Given the description of an element on the screen output the (x, y) to click on. 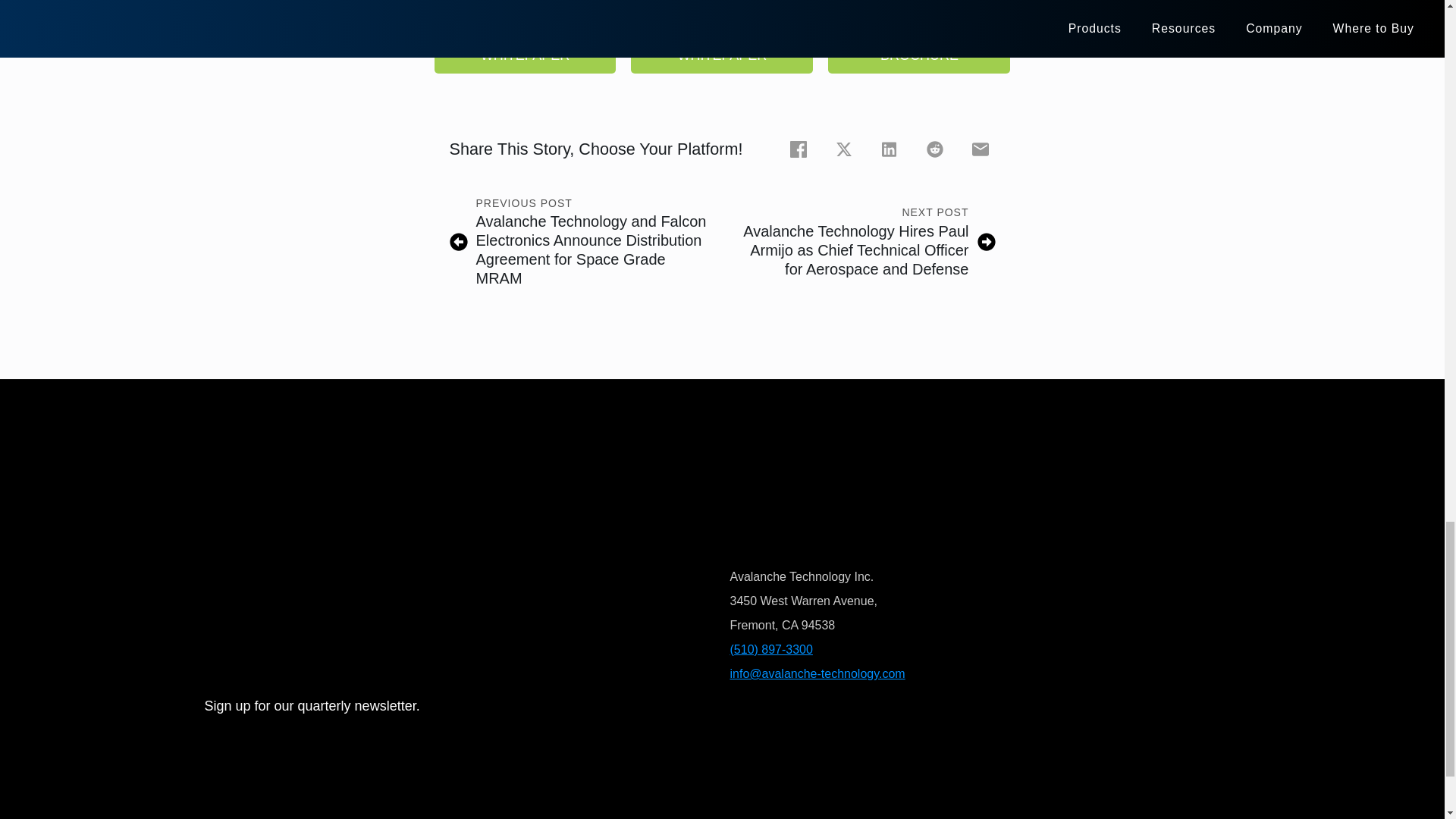
DOWNLOAD WHITEPAPER (524, 48)
SPACE GRADE PRODUCT BROCHURE (919, 41)
DOWNLOAD WHITEPAPER (721, 48)
